Given the description of an element on the screen output the (x, y) to click on. 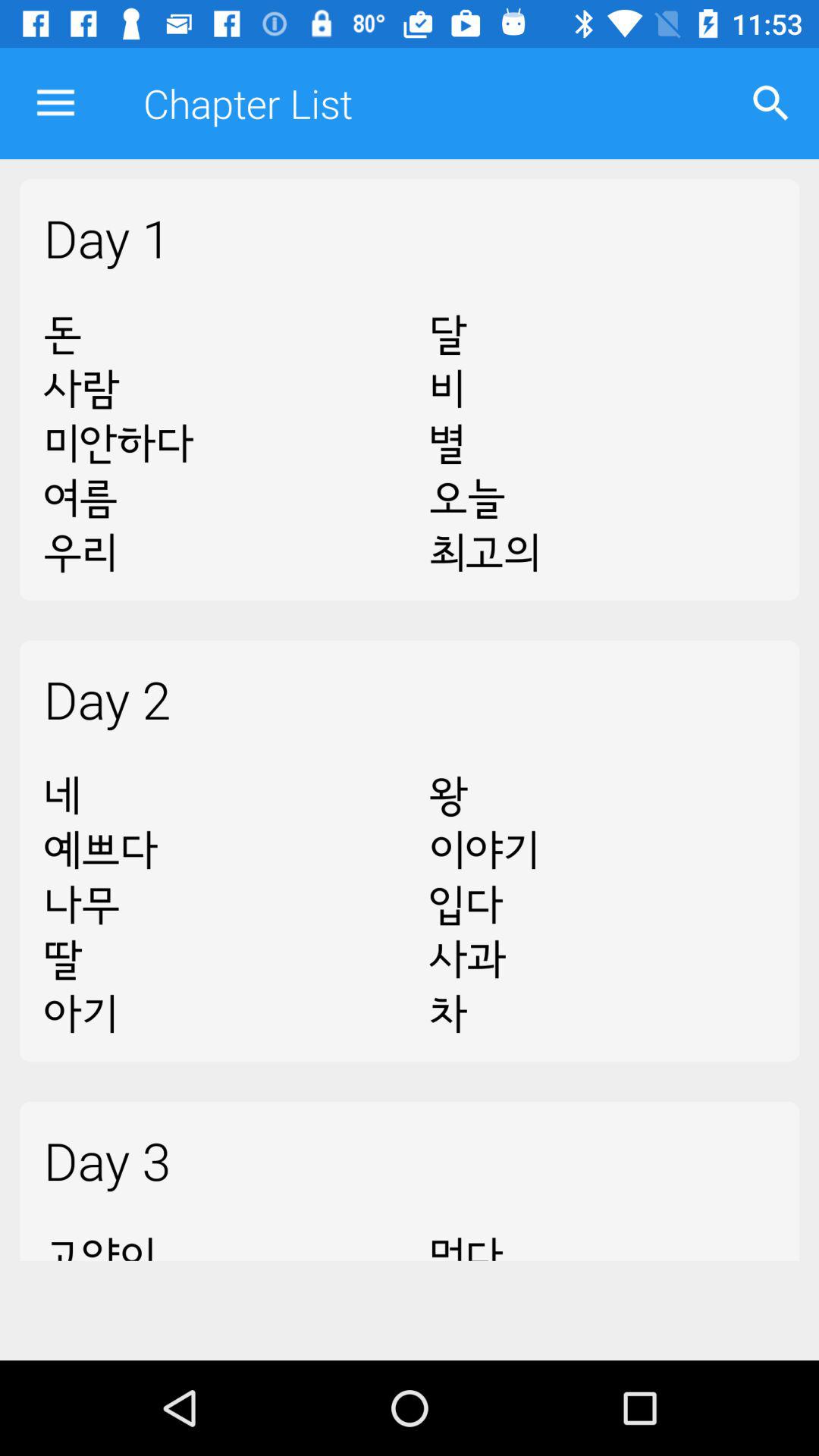
turn on the icon above the day 1 item (771, 103)
